Given the description of an element on the screen output the (x, y) to click on. 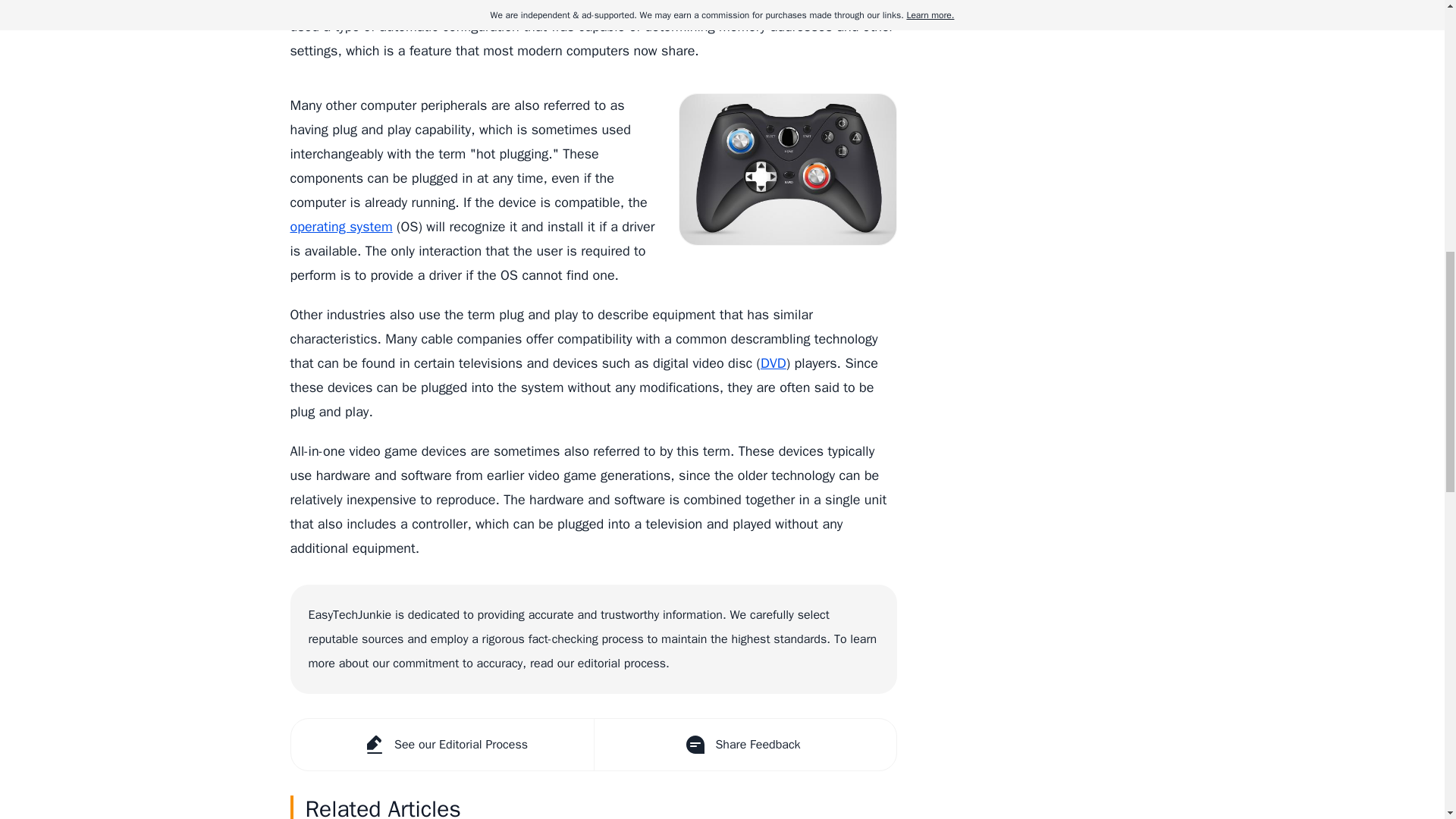
Share Feedback (743, 744)
DVD (773, 362)
operating system (340, 226)
See our Editorial Process (442, 744)
